Given the description of an element on the screen output the (x, y) to click on. 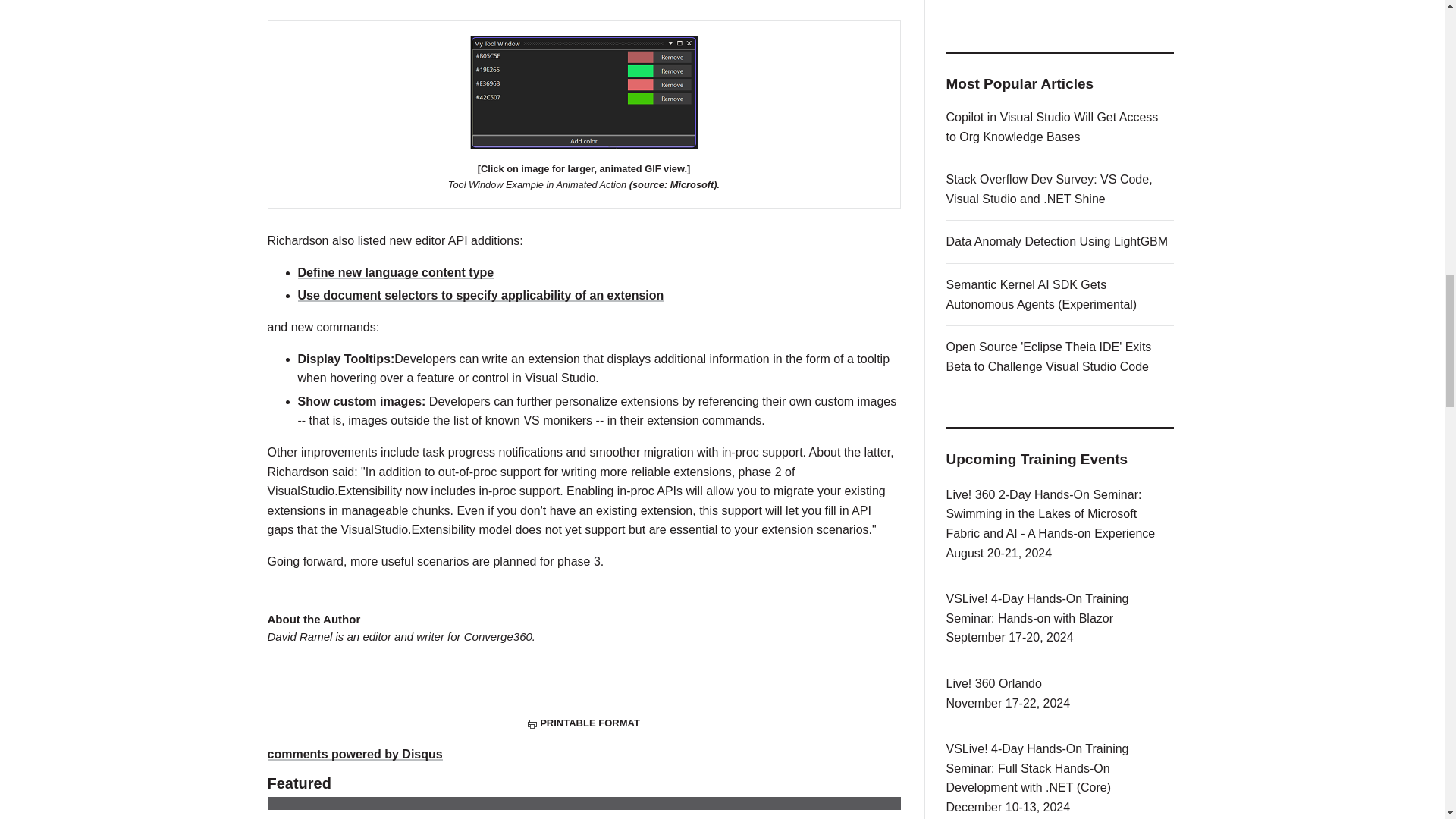
3rd party ad content (1059, 6)
